Given the description of an element on the screen output the (x, y) to click on. 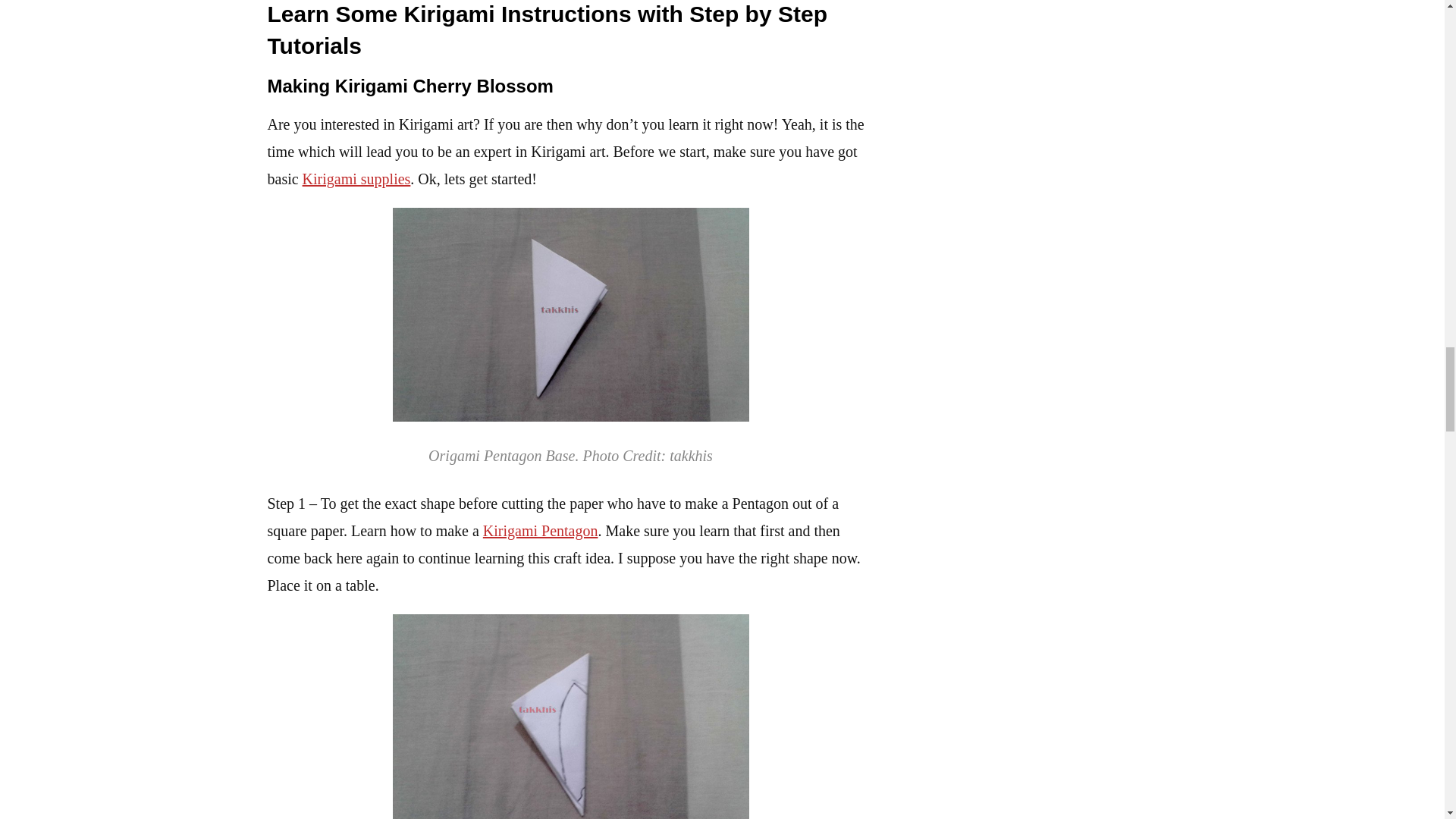
How to Make Kirigami Pentagon (540, 530)
Kirigami Supplies (356, 178)
